Given the description of an element on the screen output the (x, y) to click on. 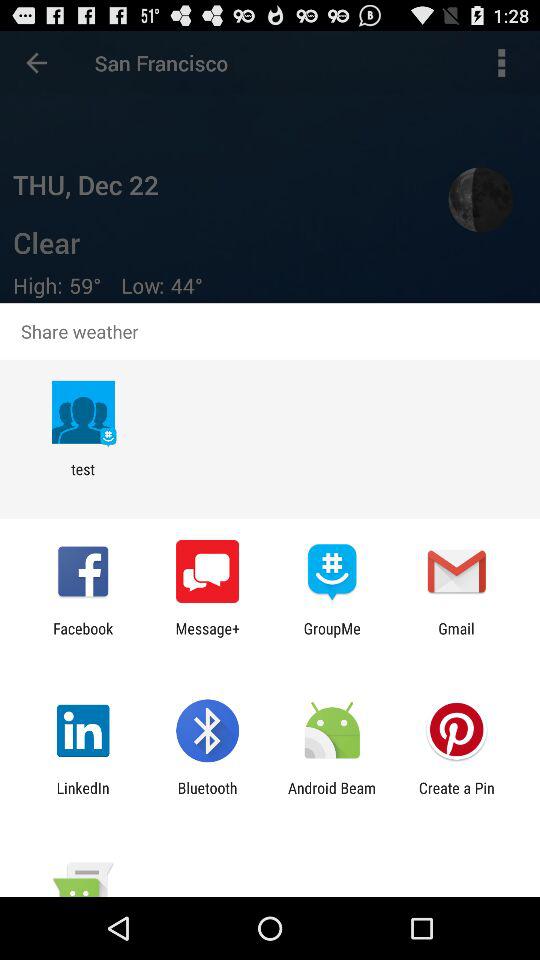
choose bluetooth item (207, 796)
